Given the description of an element on the screen output the (x, y) to click on. 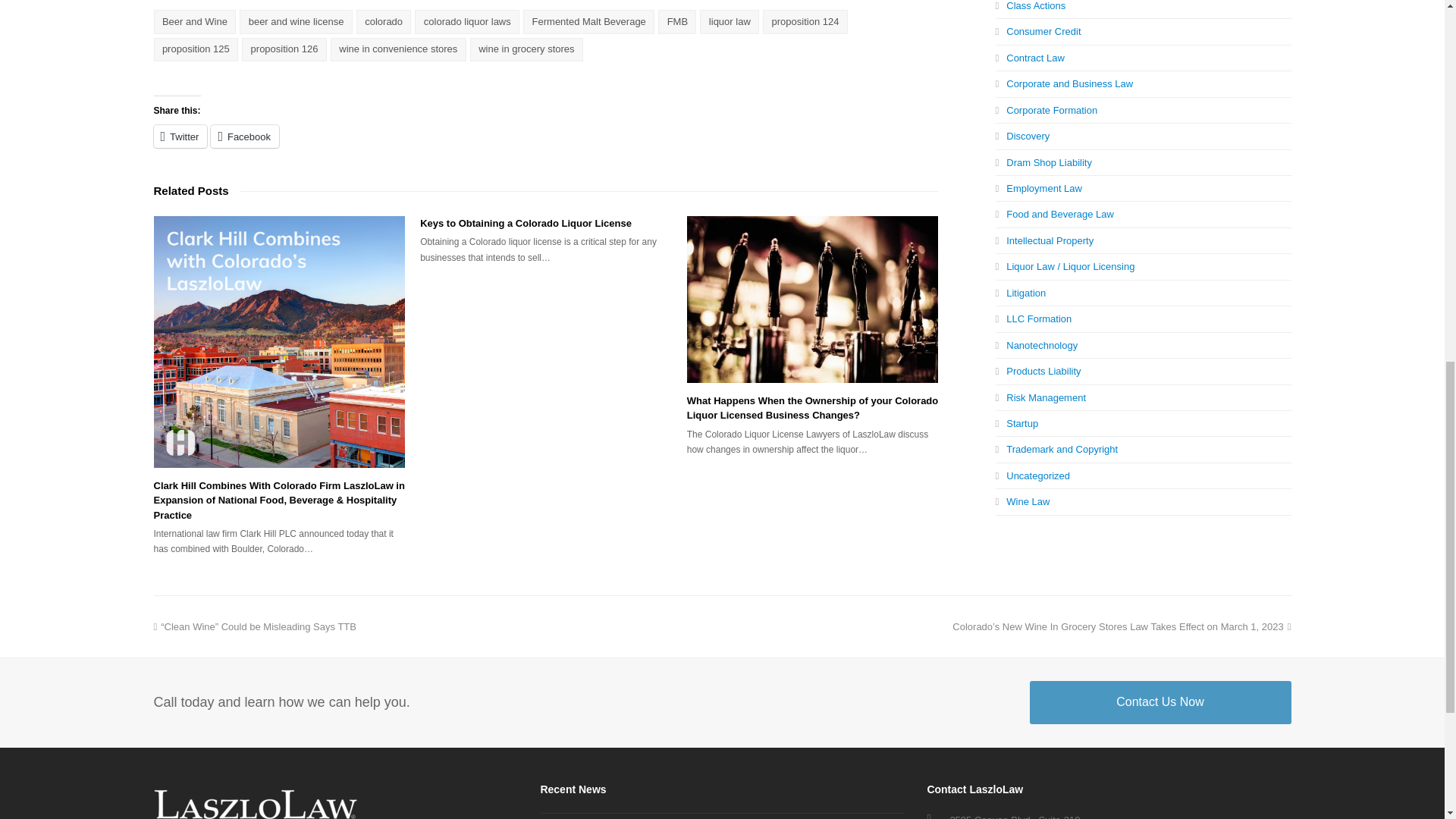
Click to share on Facebook (245, 136)
Click to share on Twitter (179, 136)
